Given the description of an element on the screen output the (x, y) to click on. 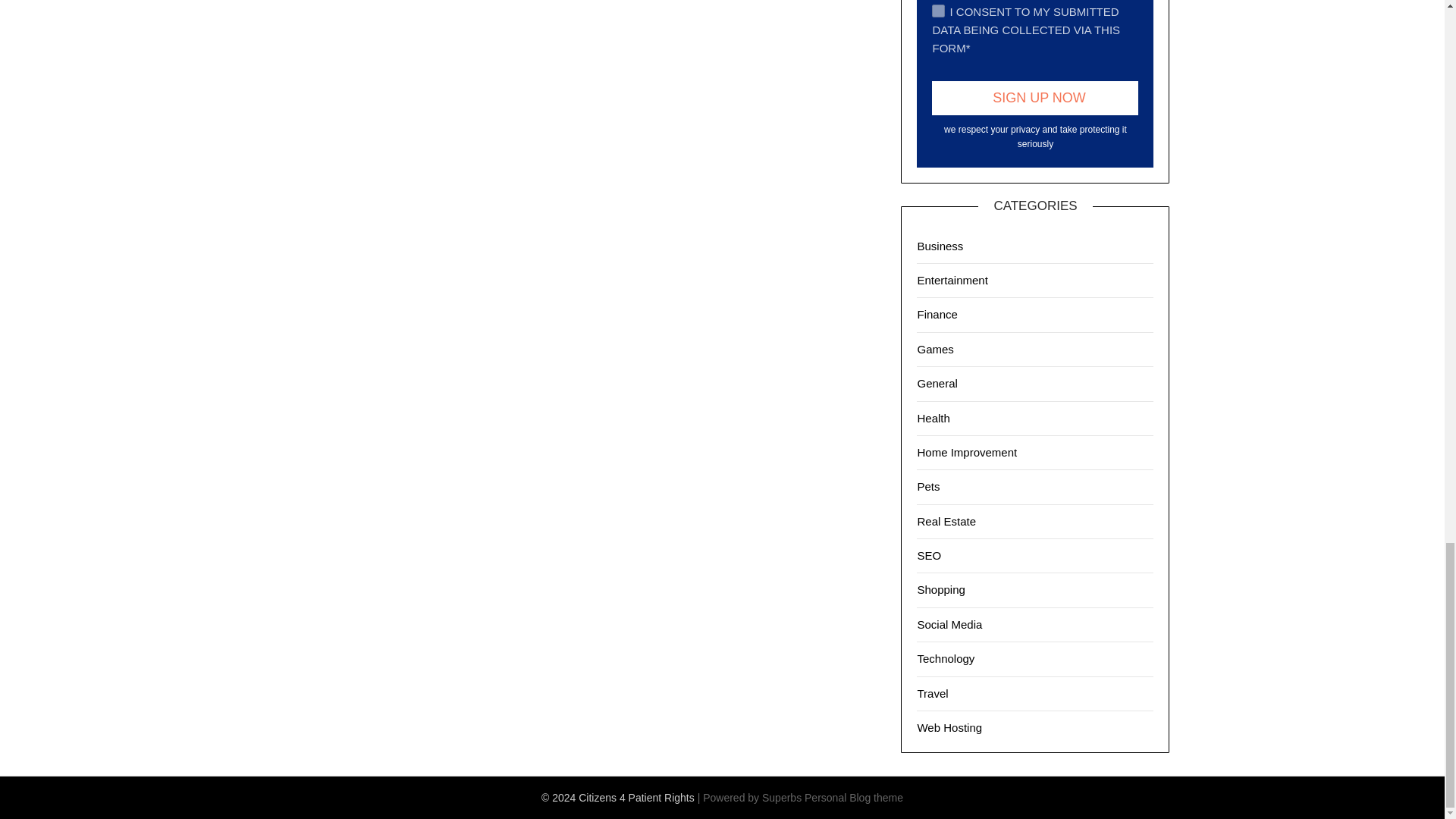
Technology (945, 658)
Shopping (940, 589)
Health (933, 418)
Sign Up Now (1034, 98)
Sign Up Now (1034, 98)
Real Estate (946, 521)
Personal Blog theme (853, 797)
Social Media (949, 624)
General (936, 382)
Games (935, 349)
Pets (928, 486)
SEO (928, 554)
Entertainment (952, 279)
Home Improvement (966, 451)
on (937, 10)
